Given the description of an element on the screen output the (x, y) to click on. 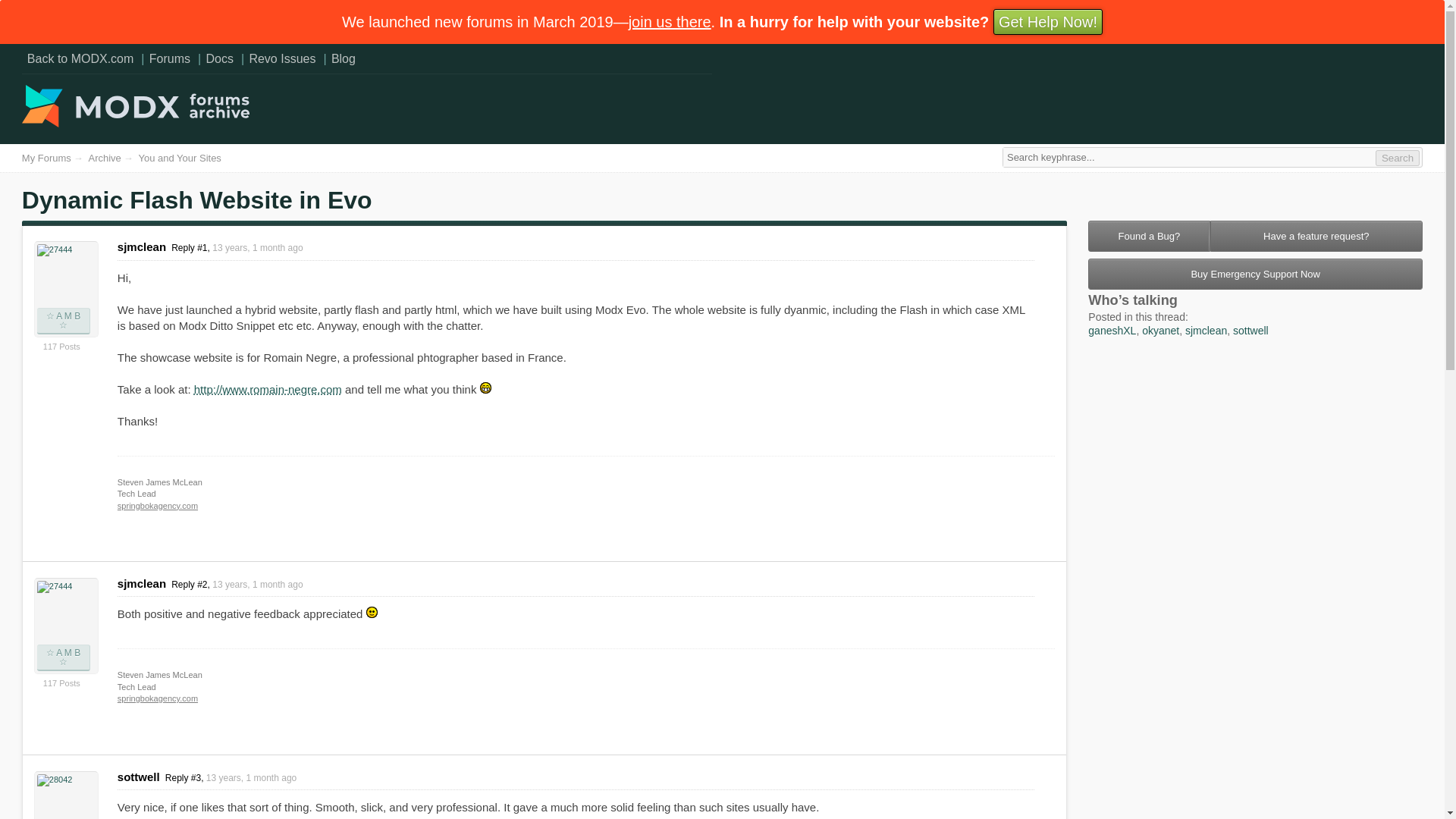
Start typing and hit ENTER (1201, 157)
springbokagency.com (157, 504)
sjmclean (1206, 330)
Archive (103, 157)
You and Your Sites (179, 157)
Dynamic Flash Website in Evo (196, 199)
Search (1397, 157)
Archive (103, 157)
okyanet (1160, 330)
Link to this Post (236, 247)
Blog (344, 58)
ganeshXL (1111, 330)
Found a Bug? (1148, 235)
join us there (669, 21)
My Forums (46, 157)
